Given the description of an element on the screen output the (x, y) to click on. 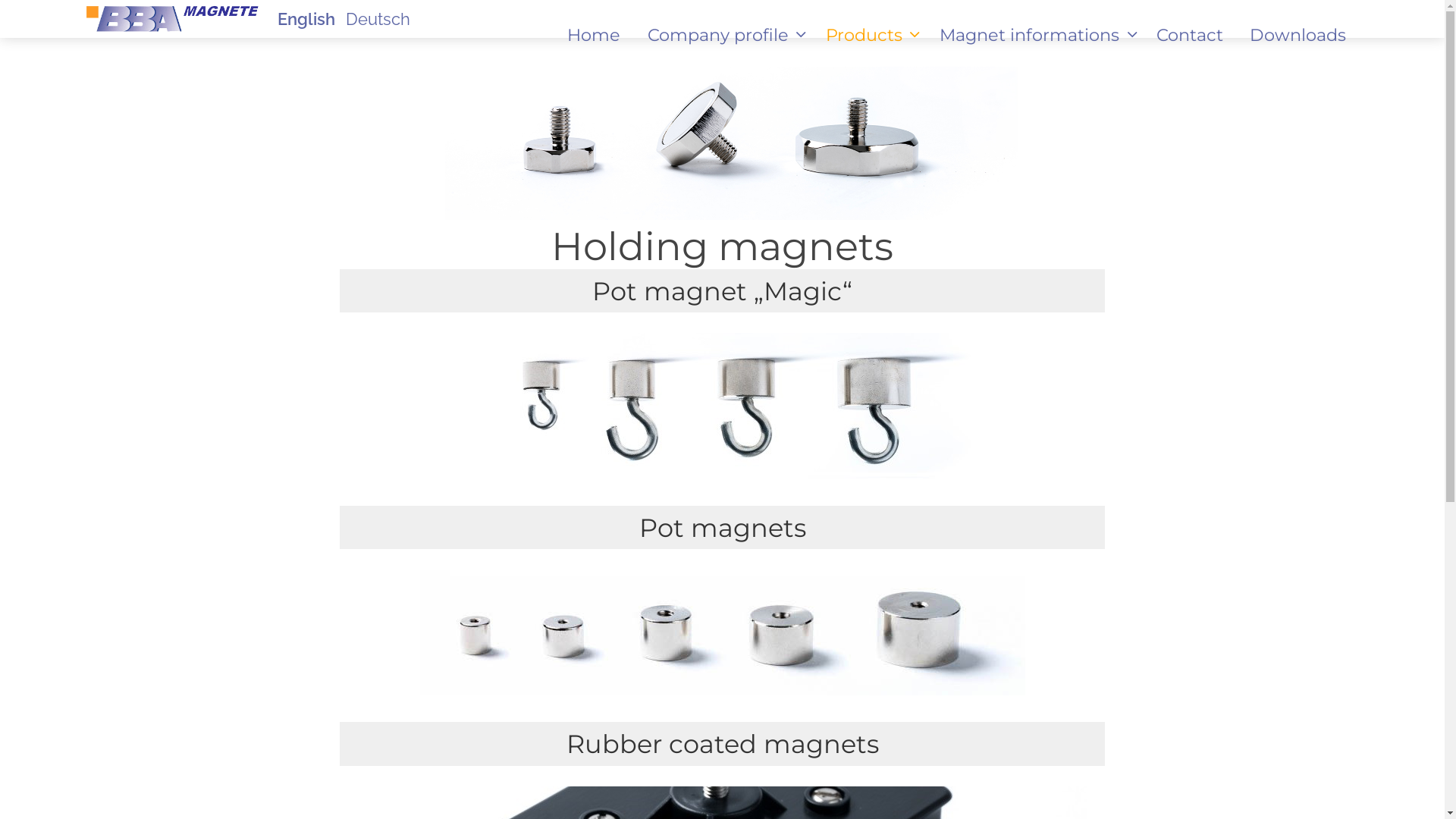
Deutsch Element type: text (377, 18)
Pot magnets Element type: text (721, 526)
Products Element type: text (868, 34)
Company profile Element type: text (722, 34)
Rubber coated magnets Element type: text (721, 743)
English Element type: text (306, 18)
Downloads Element type: text (1297, 34)
Home Element type: text (593, 34)
Magnet informations Element type: text (1033, 34)
Contact Element type: text (1189, 34)
